Given the description of an element on the screen output the (x, y) to click on. 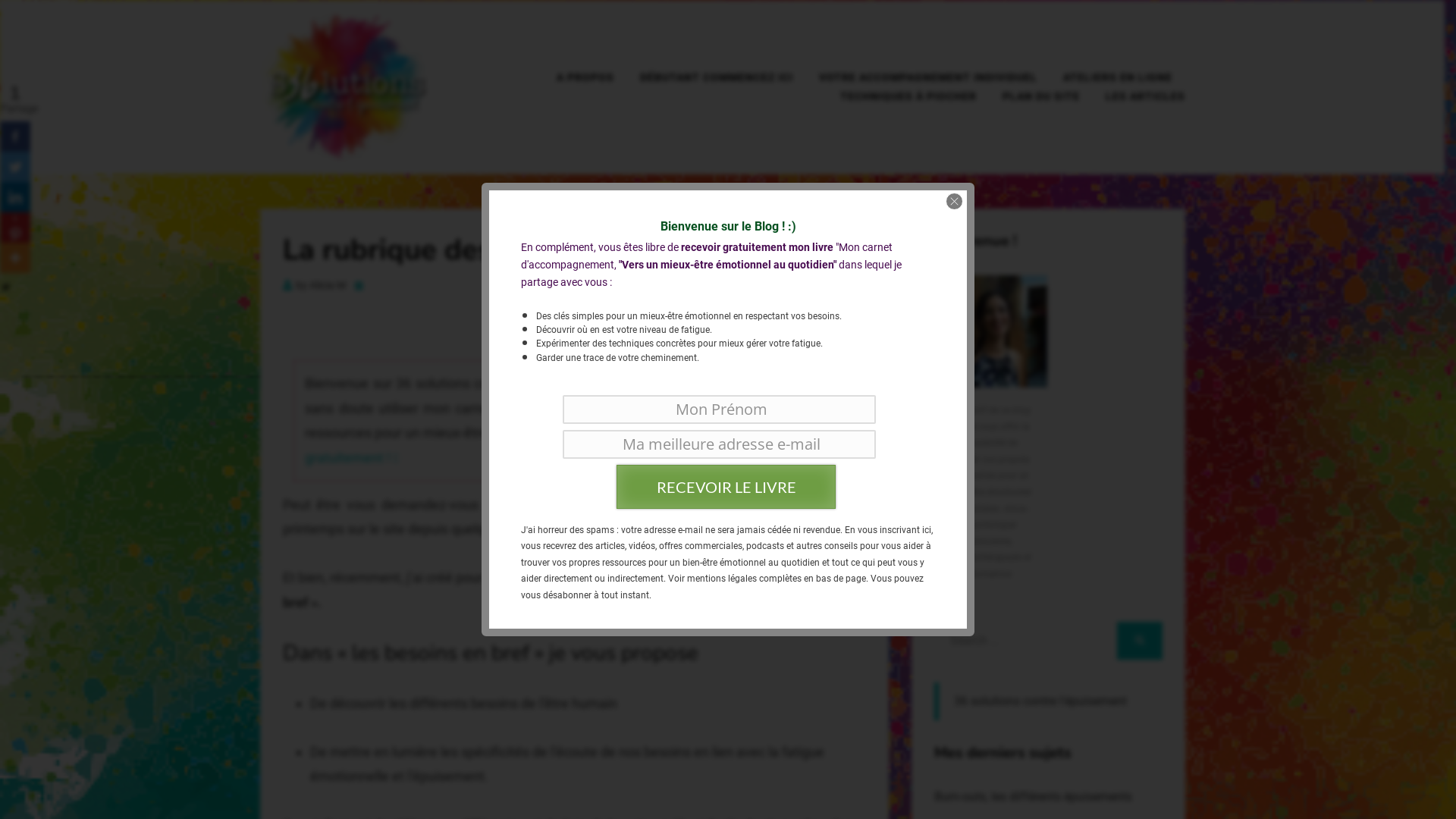
Alicia M Element type: text (327, 285)
RECEVOIR LE LIVRE Element type: text (726, 486)
PLAN DU SITE Element type: text (1040, 96)
LES ARTICLES Element type: text (1138, 96)
A PROPOS Element type: text (584, 77)
SEARCH Element type: text (1138, 640)
Linkedin Element type: hover (15, 197)
Bienvenue ! Element type: hover (991, 331)
VOTRE ACCOMPAGNEMENT INDIVIDUEL Element type: text (927, 77)
Twitter Element type: hover (15, 166)
More Element type: hover (15, 257)
1
Partage Element type: text (15, 102)
Facebook Element type: hover (15, 136)
Hide Element type: hover (6, 287)
Search for: Element type: hover (1025, 640)
ATELIERS EN LIGNE Element type: text (1116, 77)
1 Element type: text (15, 227)
